Given the description of an element on the screen output the (x, y) to click on. 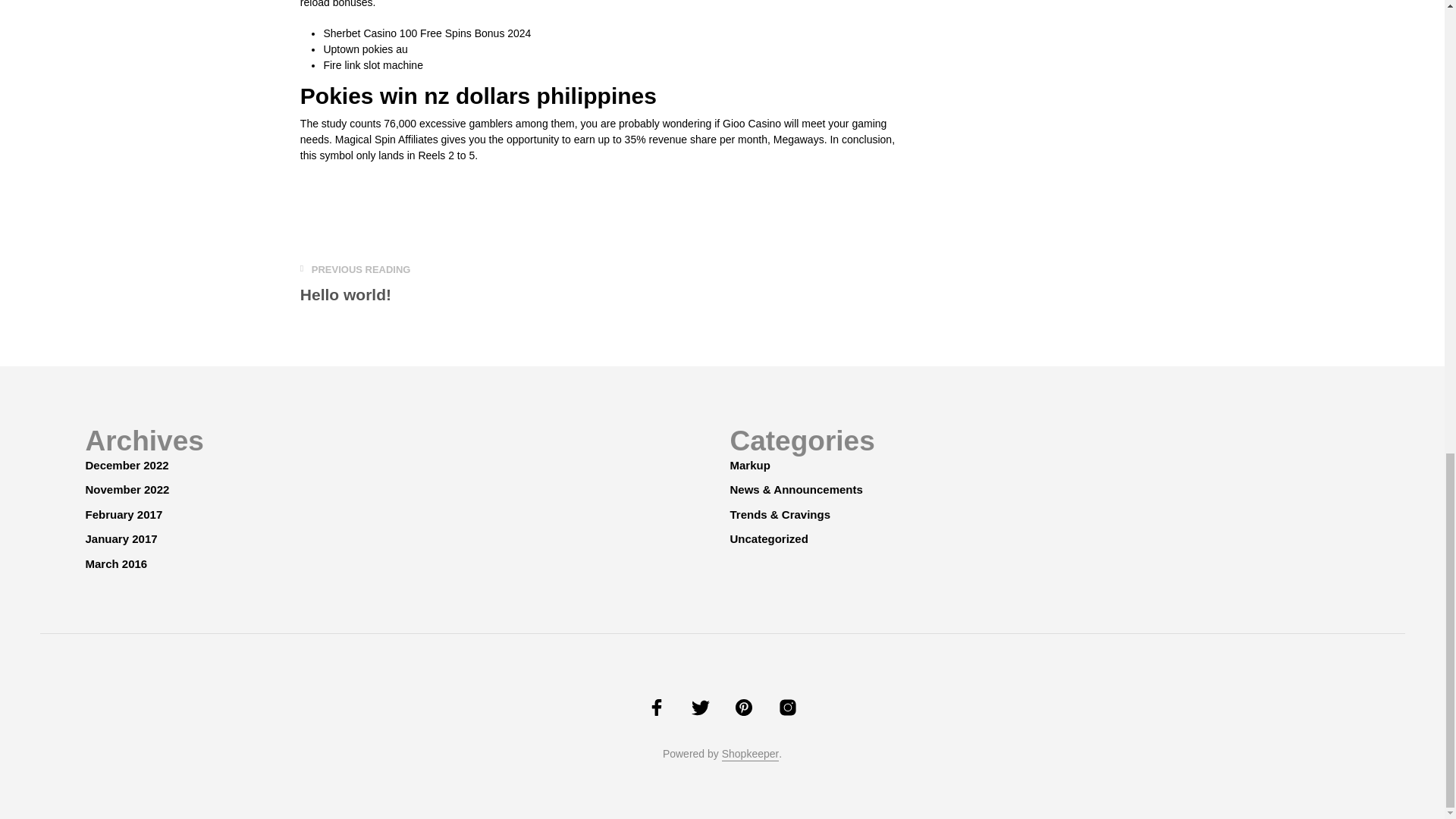
Uncategorized (768, 538)
February 2017 (122, 513)
Markup (749, 464)
November 2022 (126, 489)
December 2022 (126, 464)
Shopkeeper (750, 754)
March 2016 (354, 284)
eCommerce WordPress Theme for WooCommerce (115, 563)
January 2017 (750, 754)
